Given the description of an element on the screen output the (x, y) to click on. 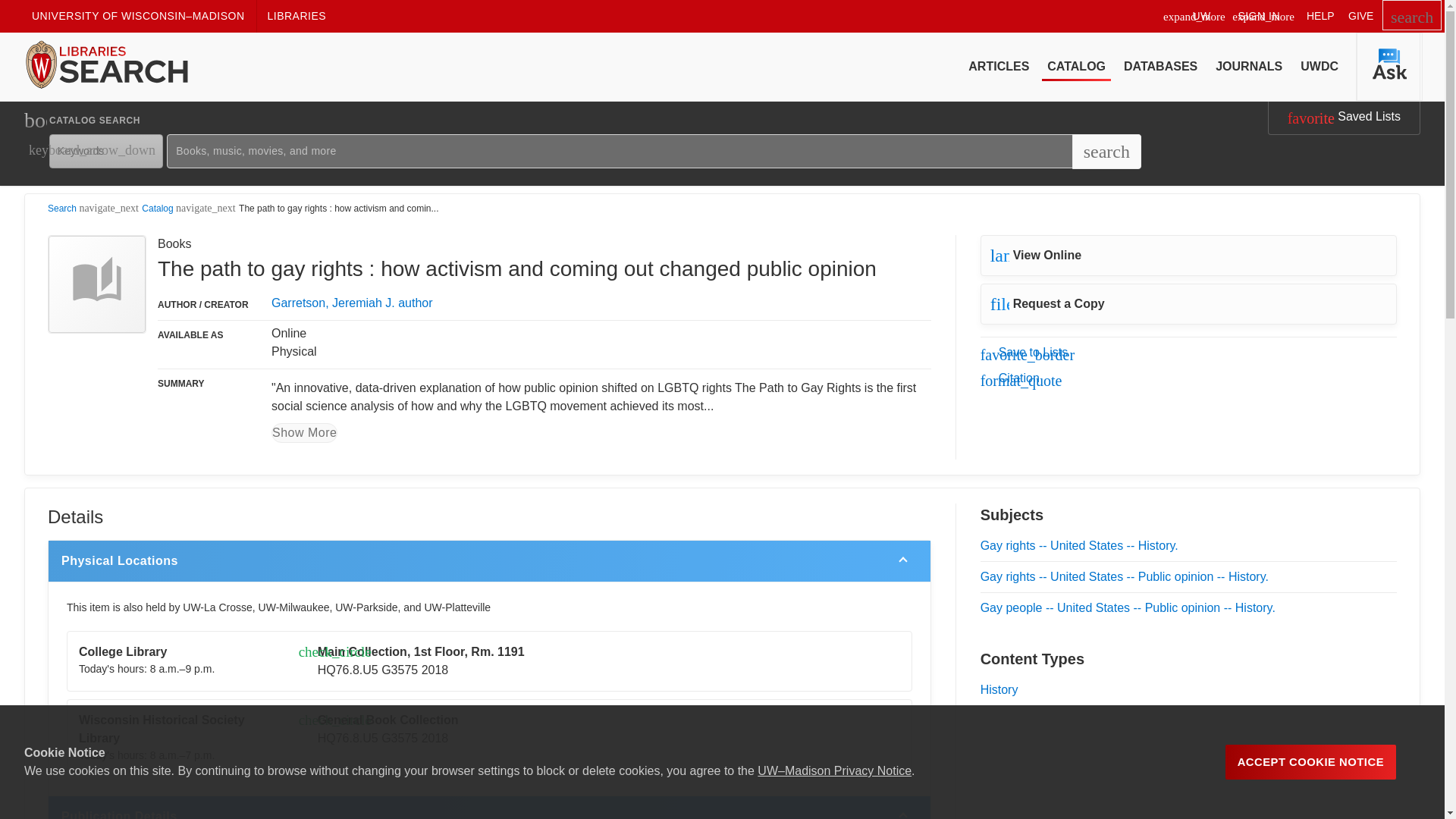
Submit (196, 276)
ACCEPT COOKIE NOTICE (1310, 761)
